Given the description of an element on the screen output the (x, y) to click on. 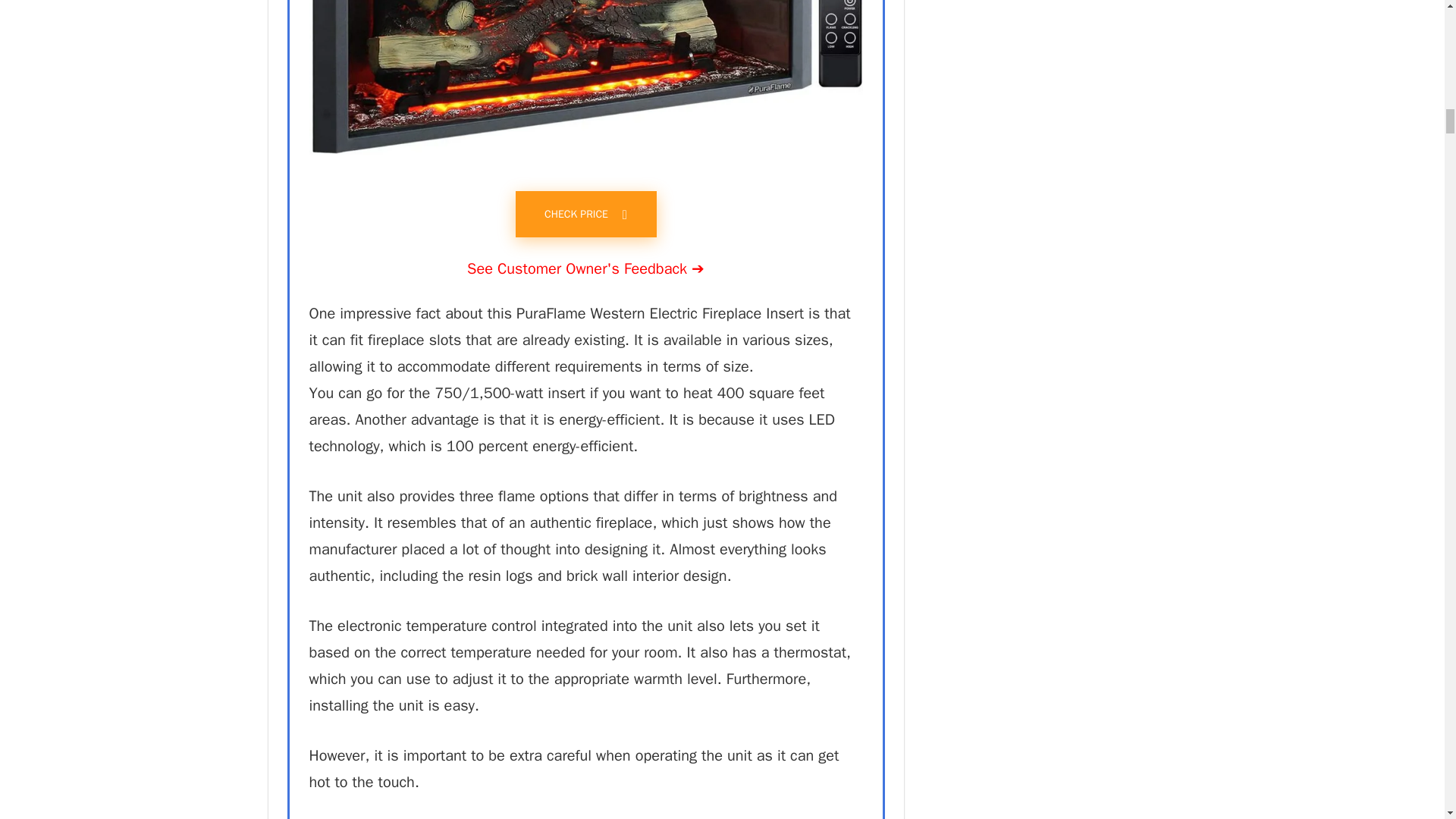
See Customer Owner's Feedback (585, 268)
